Given the description of an element on the screen output the (x, y) to click on. 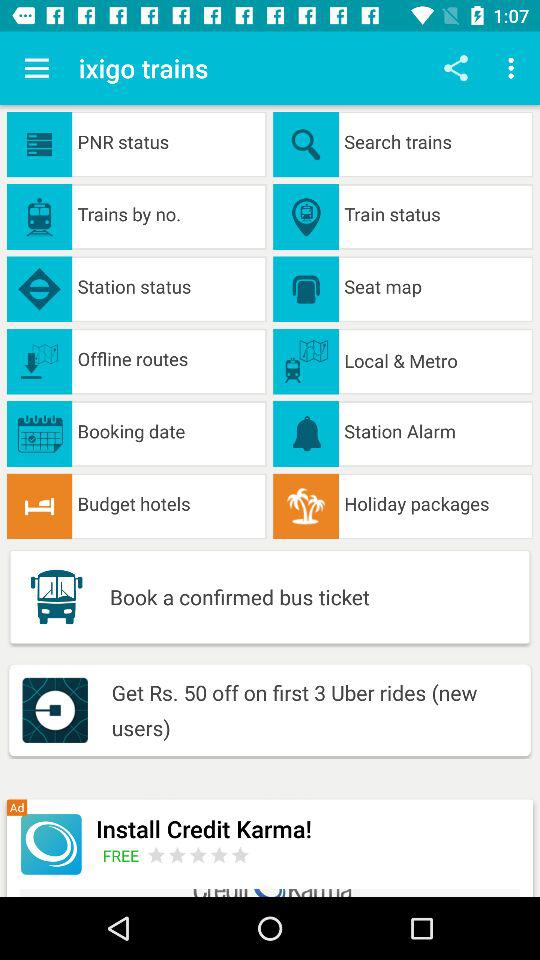
turn off the icon to the left of ixigo trains icon (36, 68)
